Given the description of an element on the screen output the (x, y) to click on. 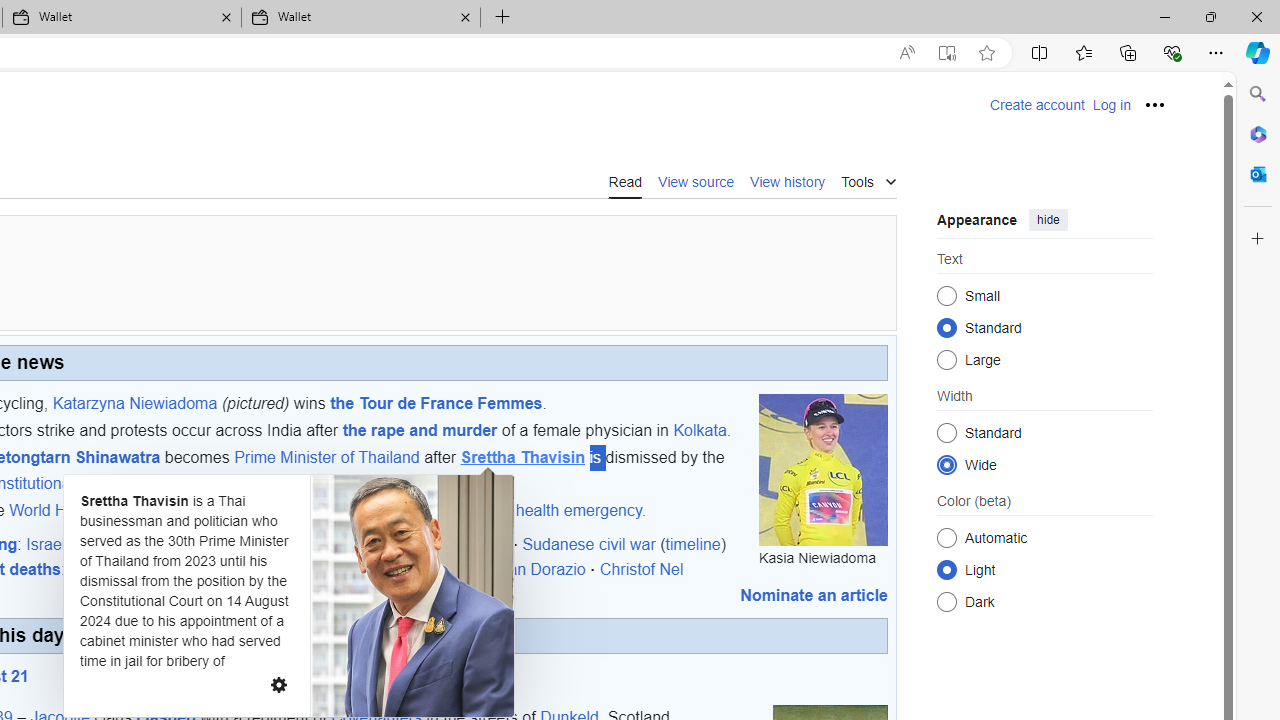
Kasia Niewiadoma (823, 469)
Small (946, 295)
the Tour de France Femmes (436, 402)
Create account (1037, 105)
Nominate an article (813, 595)
Log in (1111, 105)
Sudanese civil war (timeline) (624, 543)
Sudanese civil war (588, 543)
